Given the description of an element on the screen output the (x, y) to click on. 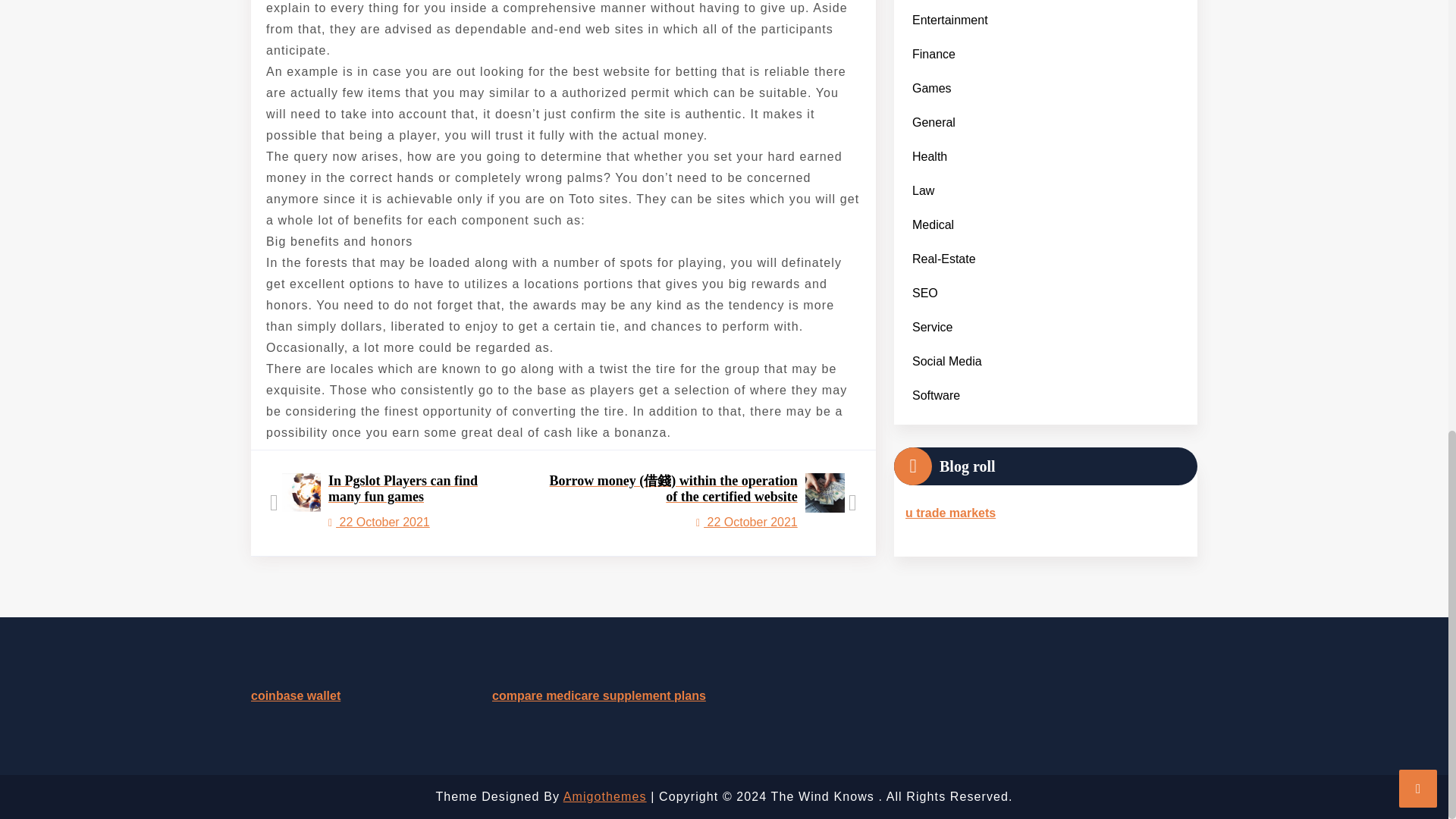
Health (391, 503)
General (929, 144)
Finance (933, 110)
Entertainment (933, 42)
Games (949, 11)
